Given the description of an element on the screen output the (x, y) to click on. 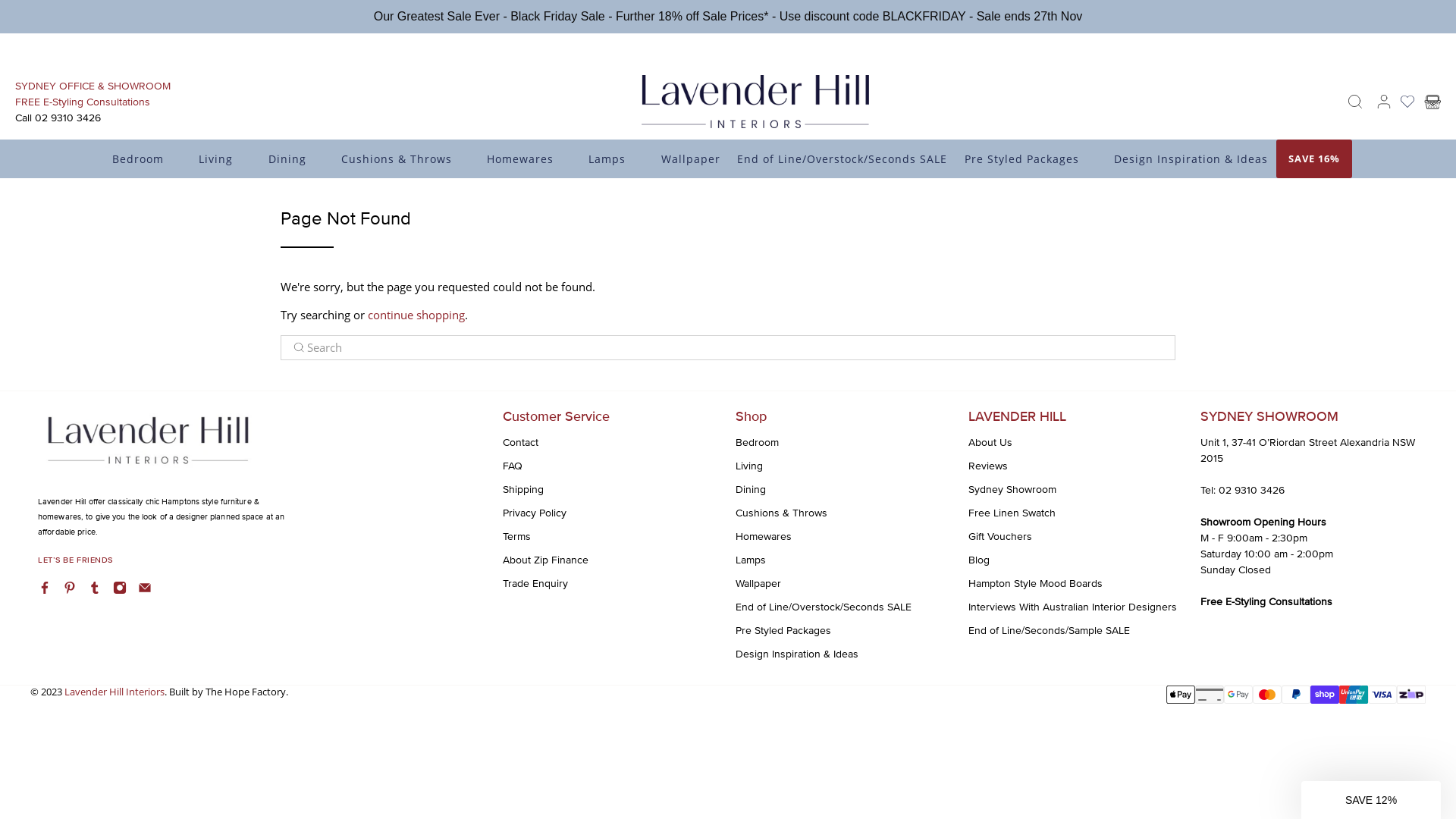
FAQ Element type: text (512, 465)
Dining Element type: text (750, 489)
Bedroom Element type: text (146, 125)
Trade Enquiry Element type: text (534, 583)
Lavender Hill Interiors Element type: hover (755, 101)
Pre Styled Packages Element type: text (1029, 158)
Bedroom Element type: text (756, 442)
Living Element type: text (748, 465)
Free E-Styling Consultations Element type: text (1266, 601)
Blog Element type: text (978, 559)
Cushions & Throws Element type: text (781, 512)
continue shopping Element type: text (415, 314)
Gift Vouchers Element type: text (1000, 536)
About Zip Finance Element type: text (545, 559)
Lavender Hill Interiors Element type: hover (146, 449)
Lavender Hill Interiors on Pinterest Element type: hover (69, 590)
Design Inspiration & Ideas Element type: text (1191, 158)
Reviews Element type: text (987, 465)
SAVE 16% Element type: text (1313, 158)
Privacy Policy Element type: text (534, 512)
Lavender Hill Interiors on Facebook Element type: hover (44, 590)
FREE E-Styling Consultations Element type: text (82, 68)
Sydney Showroom Element type: text (1012, 489)
Living Element type: text (224, 158)
Shipping Element type: text (522, 489)
About Us Element type: text (990, 442)
End of Line/Overstock/Seconds SALE Element type: text (842, 158)
Lavender Hill Interiors on Instagram Element type: hover (119, 590)
Free Linen Swatch Element type: text (1011, 512)
Wallpaper Element type: text (758, 583)
Interviews With Australian Interior Designers Element type: text (1072, 606)
Homewares Element type: text (529, 158)
Lamps Element type: text (616, 158)
Lavender Hill Interiors on Tumblr Element type: hover (94, 590)
End of Line/Overstock/Seconds SALE Element type: text (823, 606)
02 9310 3426 Element type: text (1251, 489)
Terms Element type: text (516, 536)
SYDNEY OFFICE & SHOWROOM Element type: text (92, 51)
Lavender Hill Interiors Element type: text (114, 691)
Contact Element type: text (520, 442)
End of Line/Seconds/Sample SALE Element type: text (1048, 630)
Lamps Element type: text (750, 559)
Homewares Element type: text (763, 536)
Hampton Style Mood Boards Element type: text (1035, 583)
Wallpaper Element type: text (690, 158)
Pre Styled Packages Element type: text (783, 630)
Design Inspiration & Ideas Element type: text (796, 653)
Email Lavender Hill Interiors Element type: hover (144, 590)
Cushions & Throws Element type: text (405, 158)
Dining Element type: text (295, 158)
